Given the description of an element on the screen output the (x, y) to click on. 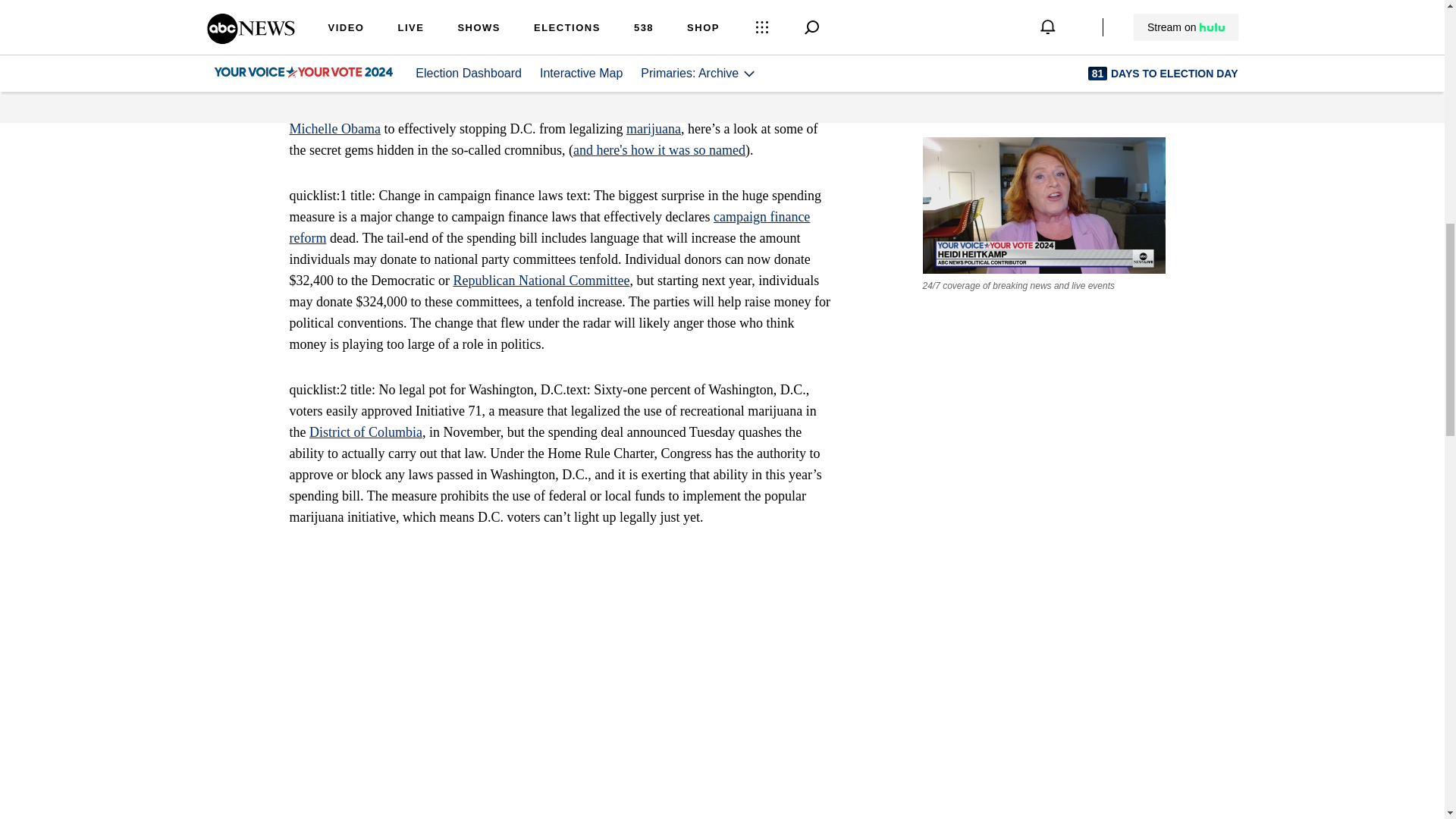
and here's how it was so named (659, 150)
Michelle Obama (334, 128)
District of Columbia (365, 432)
government shutdown (535, 30)
campaign finance reform (549, 227)
marijuana (653, 128)
Republican National Committee (540, 280)
